Given the description of an element on the screen output the (x, y) to click on. 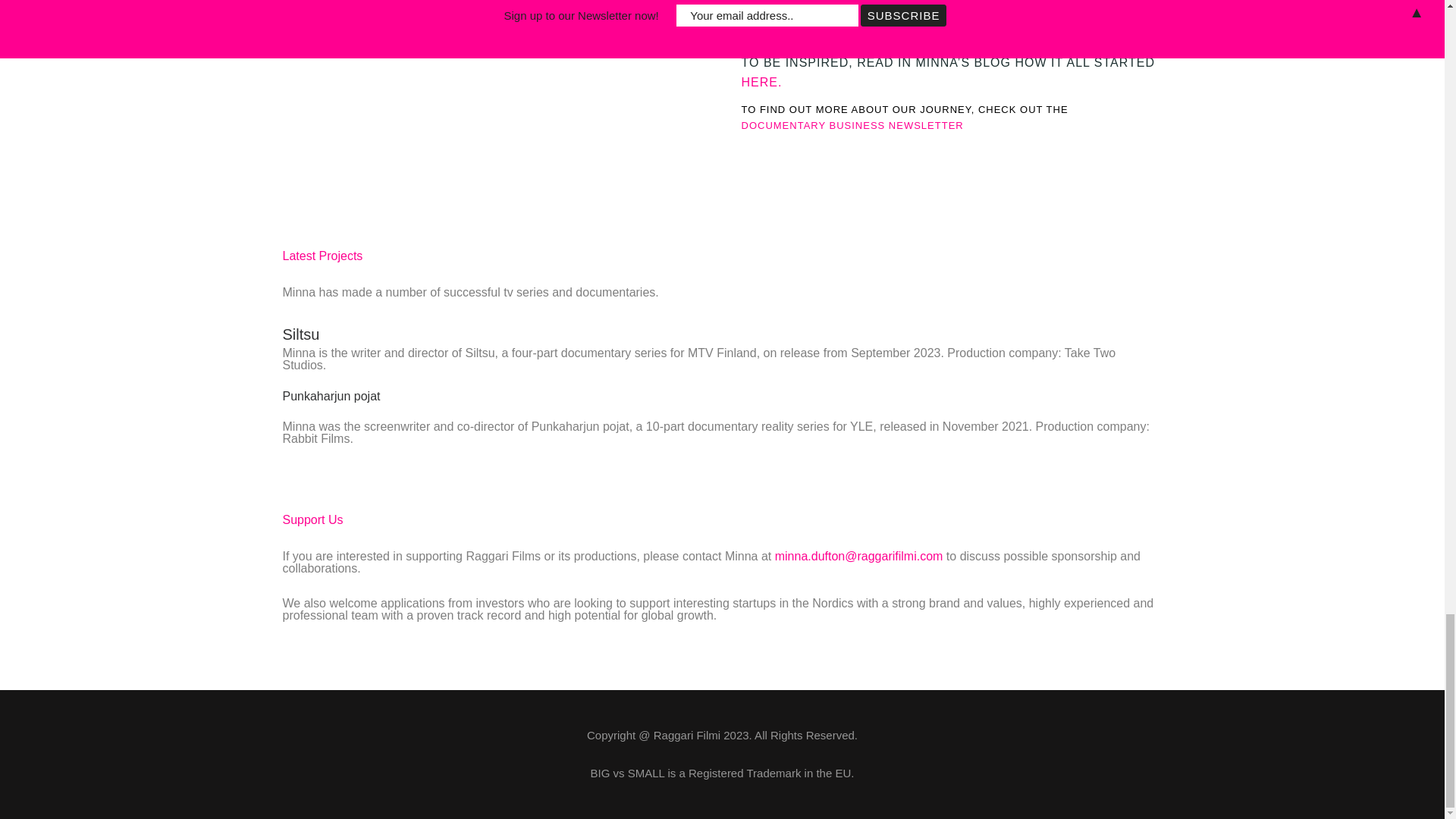
DOCUMENTARY BUSINESS NEWSLETTER. (854, 125)
HERE. (1023, 34)
HERE (759, 82)
